Given the description of an element on the screen output the (x, y) to click on. 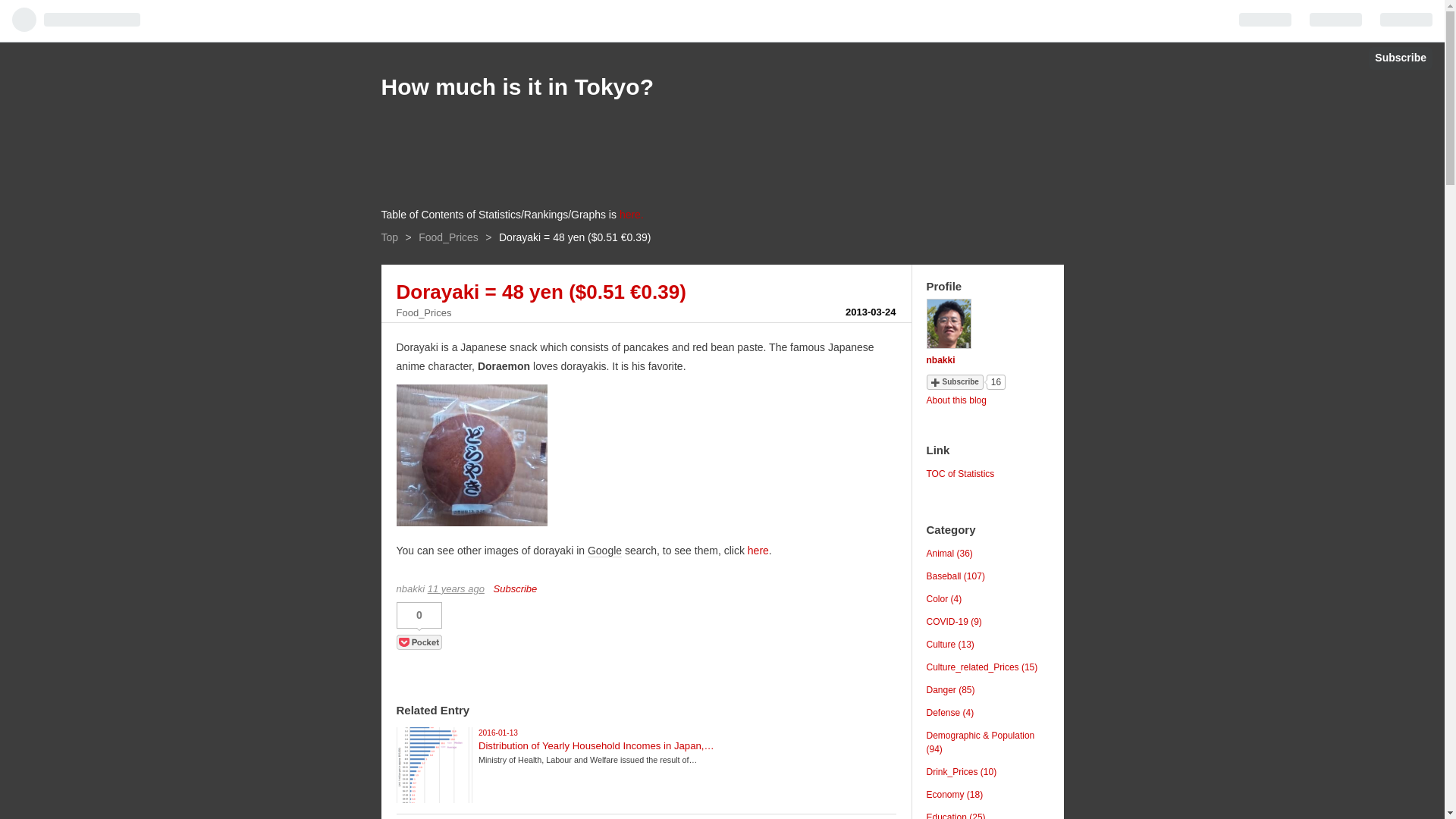
2016-01-13T05:19:42Z (498, 732)
2013-03-24 (870, 311)
2013-03-24T14:19:05Z (456, 588)
TOC of Statistics (960, 473)
here (758, 550)
How much is it in Tokyo? (516, 86)
About this blog (956, 399)
Subscribe (1400, 57)
2016-01-13 (498, 732)
Google (604, 550)
